Given the description of an element on the screen output the (x, y) to click on. 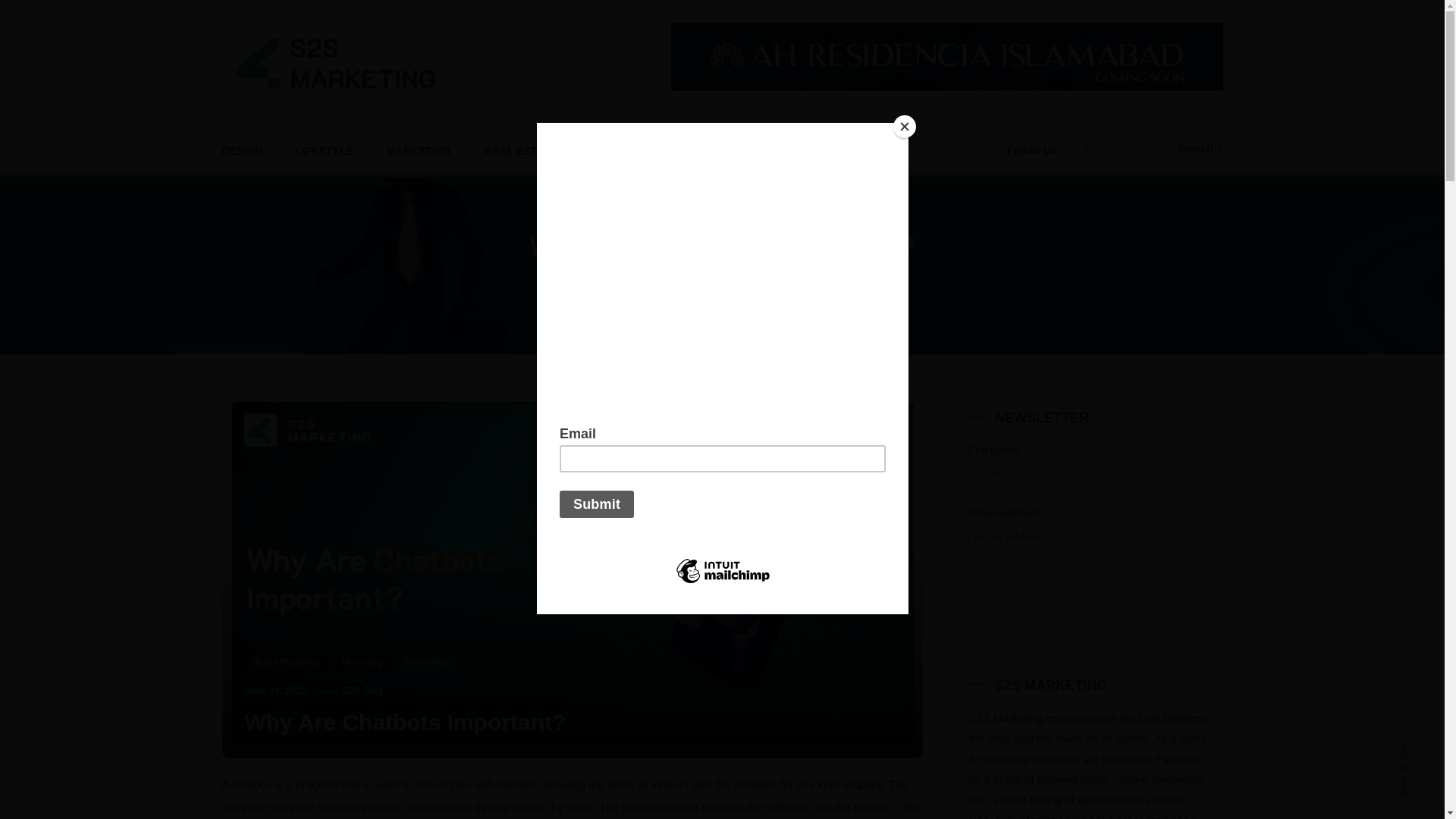
DESIGN (249, 150)
MARKETING (418, 150)
Sign Up (1086, 581)
S2S BLOG (290, 117)
Technology (427, 662)
June 24, 2022 (274, 690)
S2S Blog (362, 690)
Home (603, 282)
REAL ESTATE (520, 150)
WORKPLACE (732, 150)
LIFESTYLE (324, 150)
Digital Marketing (285, 662)
Marketing (362, 662)
Search (1200, 148)
Marketing (662, 282)
